Given the description of an element on the screen output the (x, y) to click on. 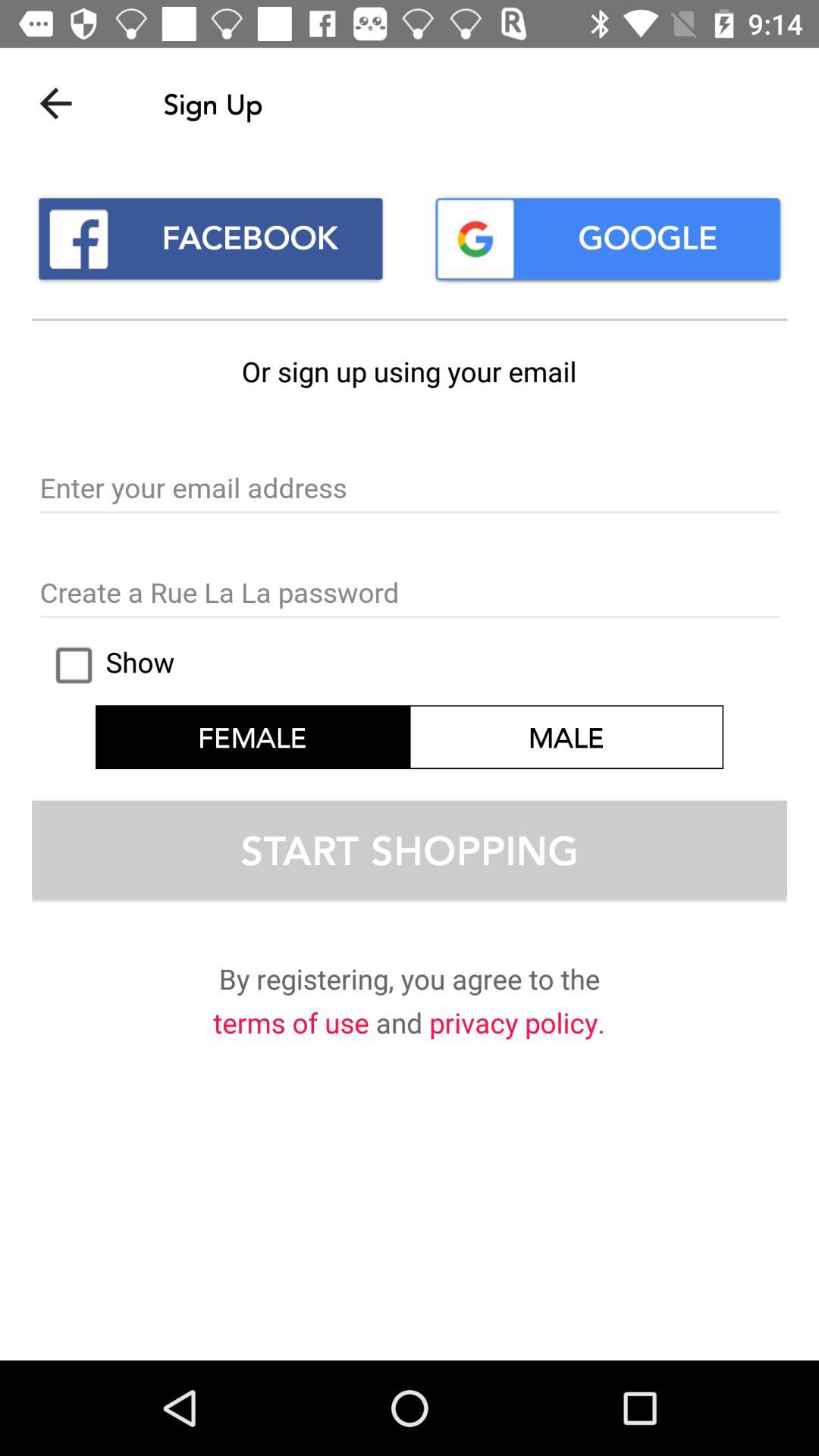
click the icon above by registering you item (409, 848)
